Given the description of an element on the screen output the (x, y) to click on. 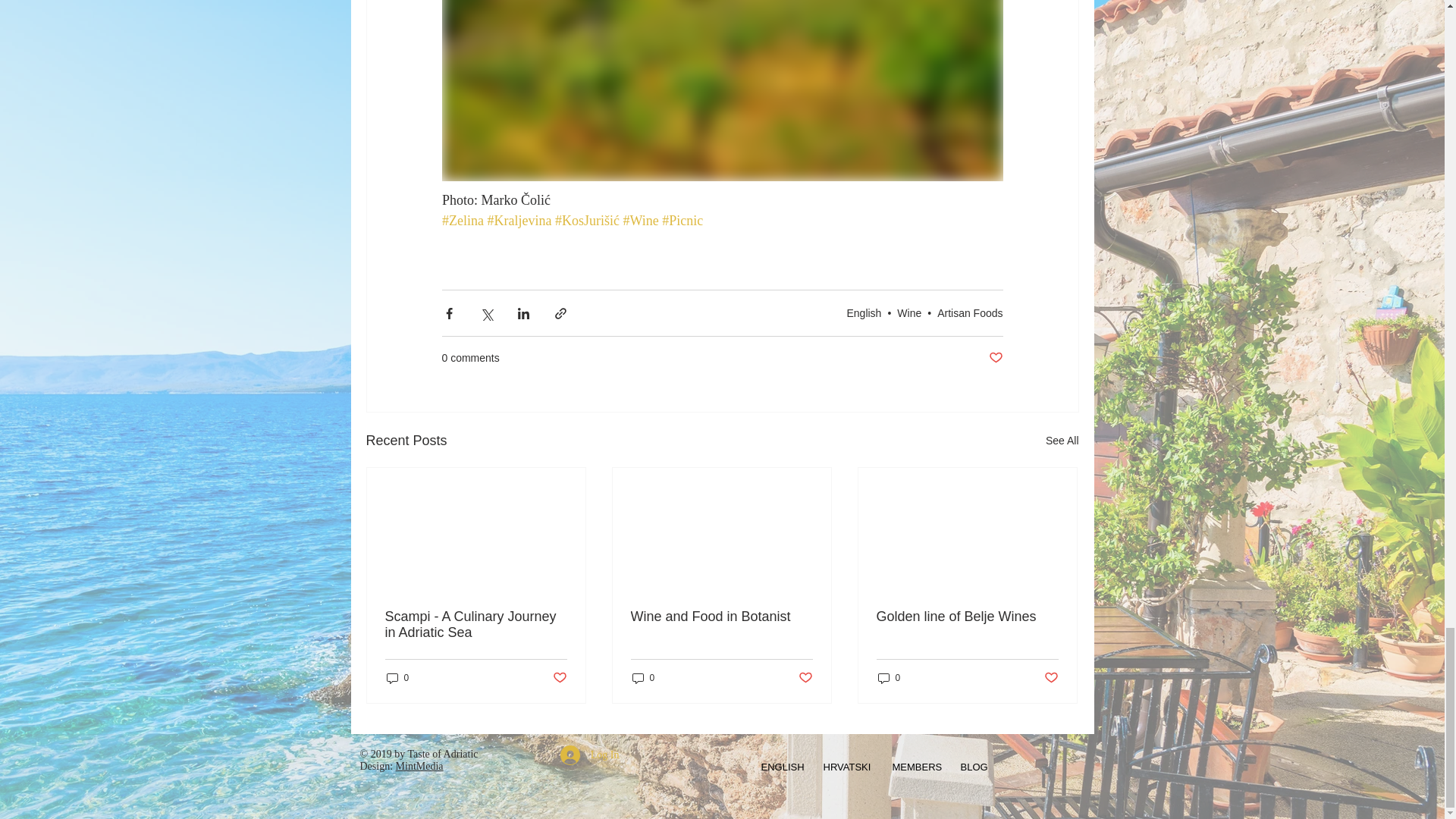
Log In (590, 755)
0 (397, 677)
Post not marked as liked (995, 358)
English (862, 313)
Post not marked as liked (804, 678)
Scampi - A Culinary Journey in Adriatic Sea (476, 624)
Golden line of Belje Wines (967, 616)
Wine and Food in Botanist (721, 616)
Post not marked as liked (1050, 678)
See All (1061, 440)
0 (643, 677)
Artisan Foods (970, 313)
MintMedia (420, 766)
Post not marked as liked (558, 678)
Taste of Adriatic (442, 754)
